Given the description of an element on the screen output the (x, y) to click on. 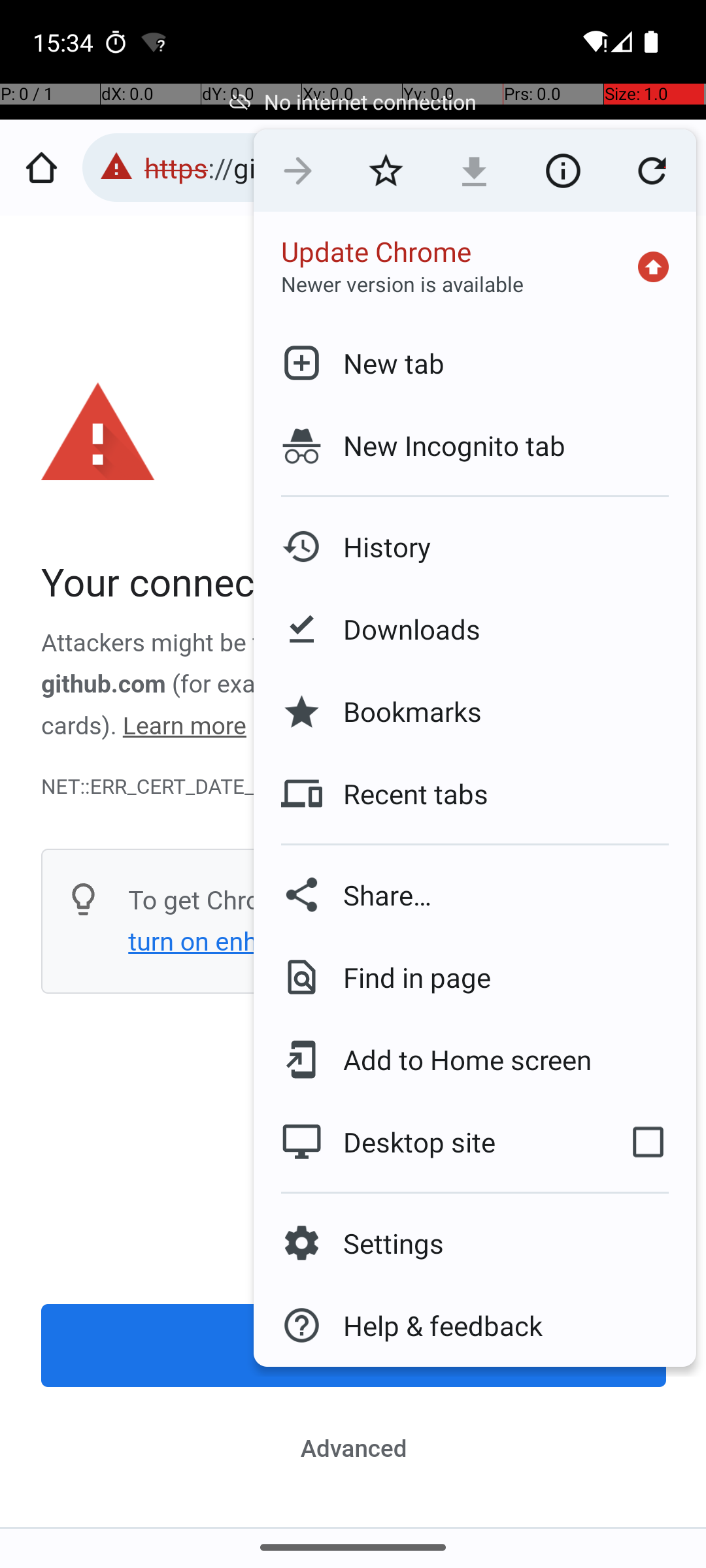
Forward Element type: android.widget.ImageButton (297, 170)
Bookmark Element type: android.widget.ImageButton (385, 170)
Download Element type: android.widget.ImageButton (474, 170)
Page info Element type: android.widget.ImageButton (562, 170)
Refresh Element type: android.widget.ImageButton (651, 170)
Update Chrome Element type: android.widget.TextView (376, 250)
Newer version is available Element type: android.widget.TextView (402, 283)
New tab Element type: android.widget.TextView (383, 363)
New Incognito tab Element type: android.widget.TextView (474, 445)
Bookmarks Element type: android.widget.TextView (401, 711)
Recent tabs Element type: android.widget.TextView (405, 793)
Share… Element type: android.widget.TextView (474, 894)
Find in page Element type: android.widget.TextView (406, 977)
Add to Home screen Element type: android.widget.TextView (457, 1059)
Desktop site Element type: android.widget.TextView (426, 1141)
